Given the description of an element on the screen output the (x, y) to click on. 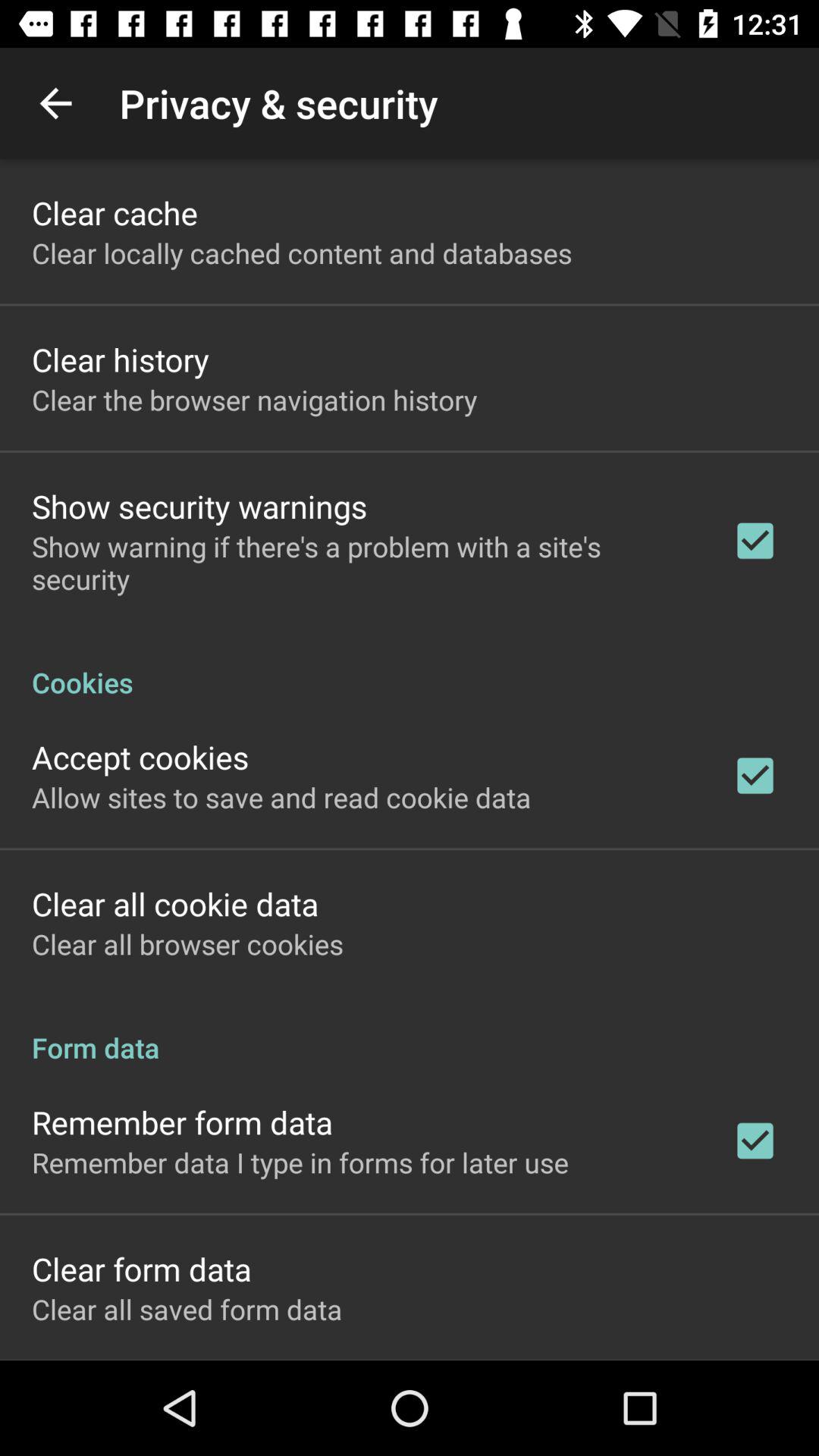
launch the clear cache app (114, 212)
